Given the description of an element on the screen output the (x, y) to click on. 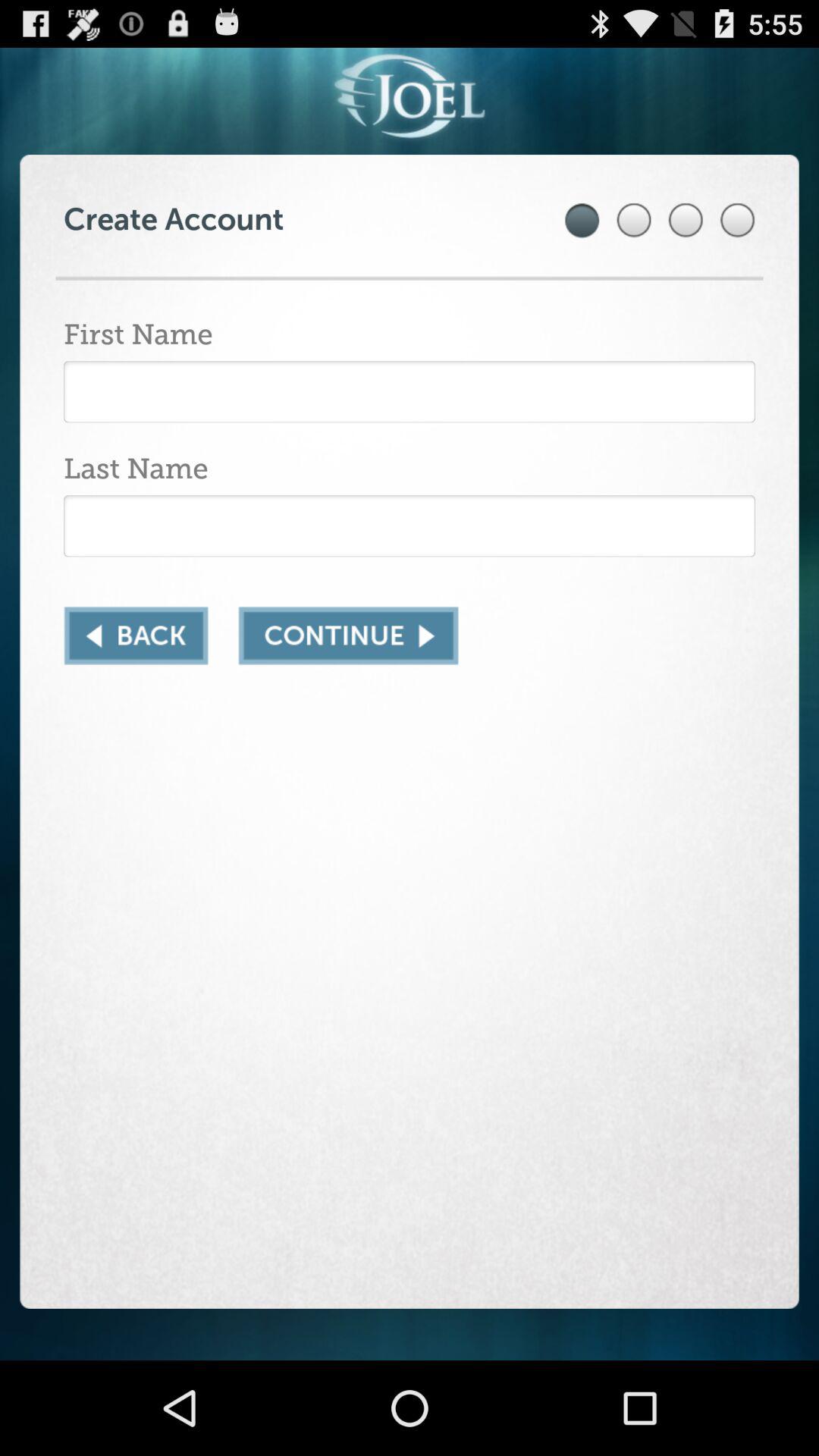
go back (135, 635)
